Given the description of an element on the screen output the (x, y) to click on. 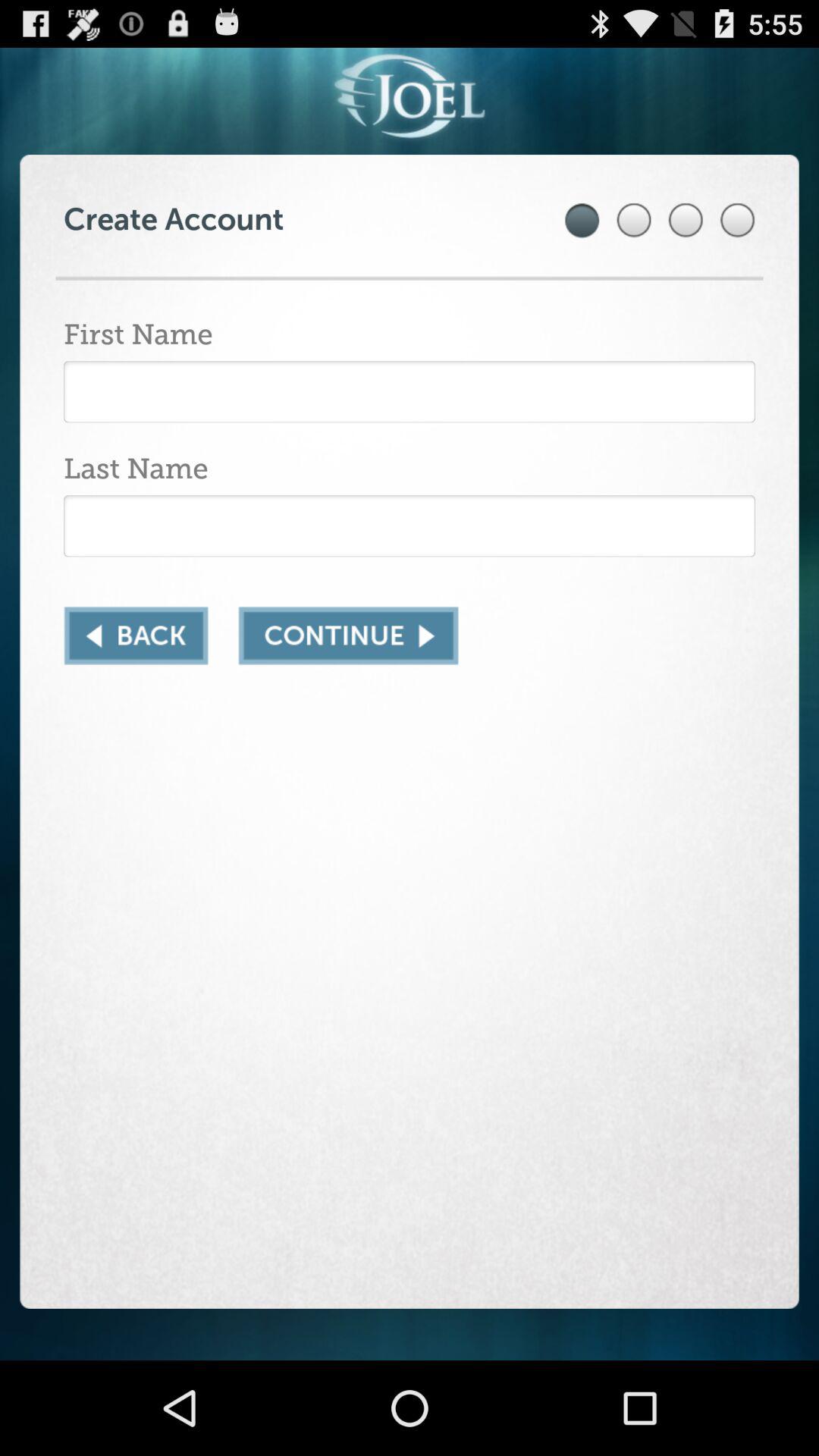
go back (135, 635)
